Given the description of an element on the screen output the (x, y) to click on. 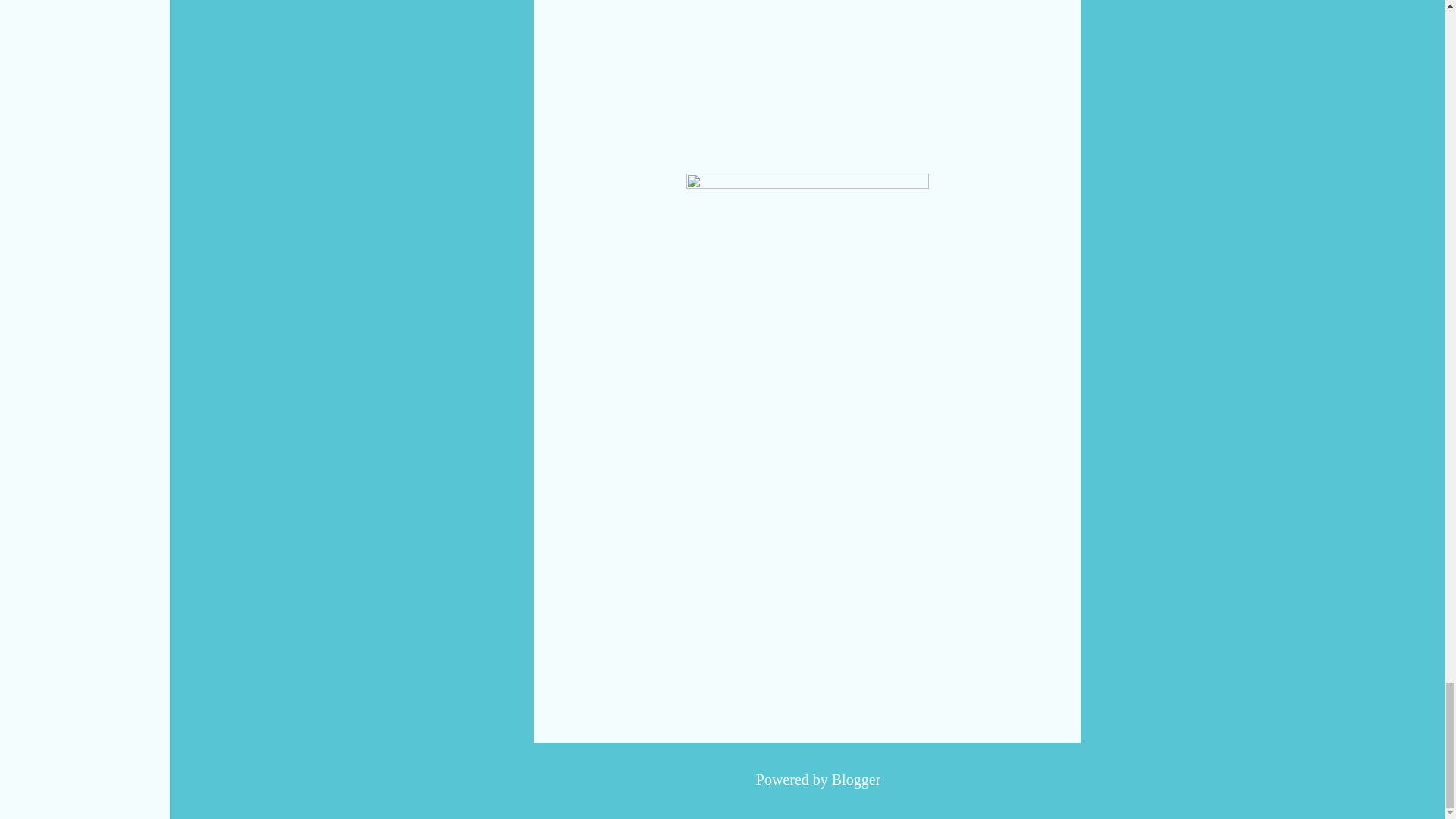
Powered by Blogger (806, 779)
